Given the description of an element on the screen output the (x, y) to click on. 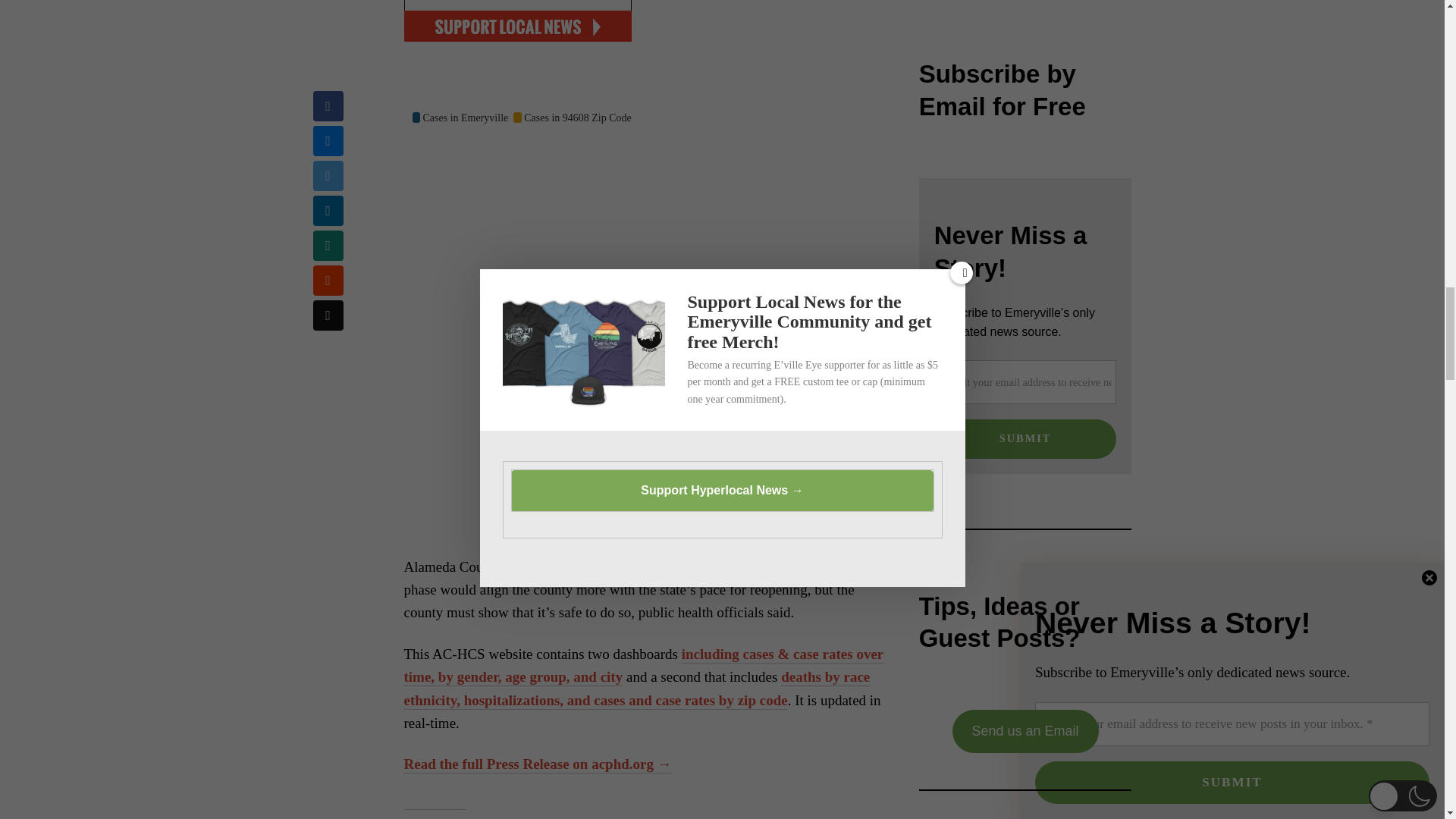
A Flourish chart (847, 545)
Submit (1025, 438)
Eville Eye Support Instory (516, 20)
